Given the description of an element on the screen output the (x, y) to click on. 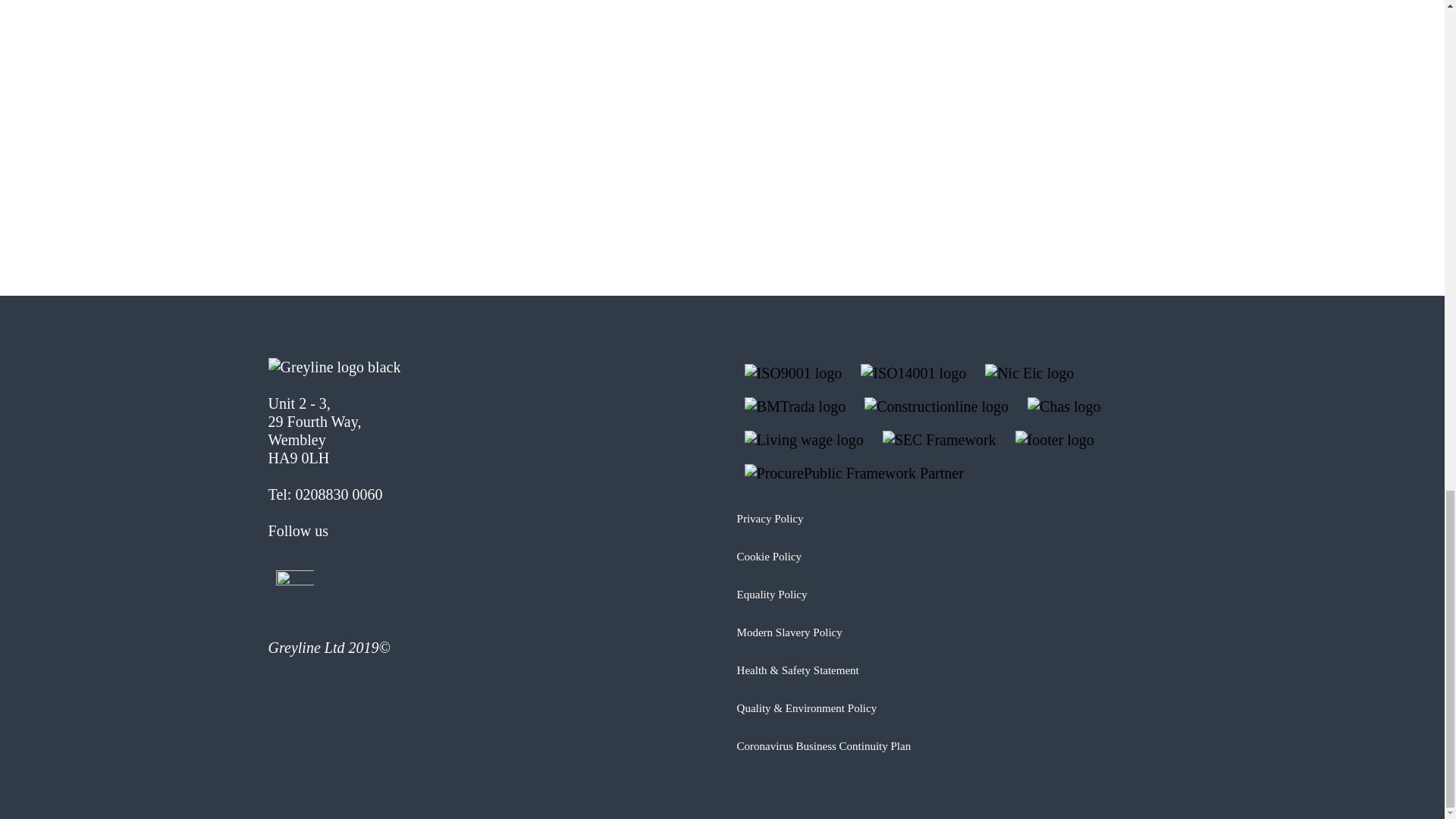
Equality Policy (772, 594)
Cookie Policy (769, 556)
Privacy Policy (769, 518)
Modern Slavery Policy (789, 632)
Tel: 0208830 0060 (324, 494)
